Given the description of an element on the screen output the (x, y) to click on. 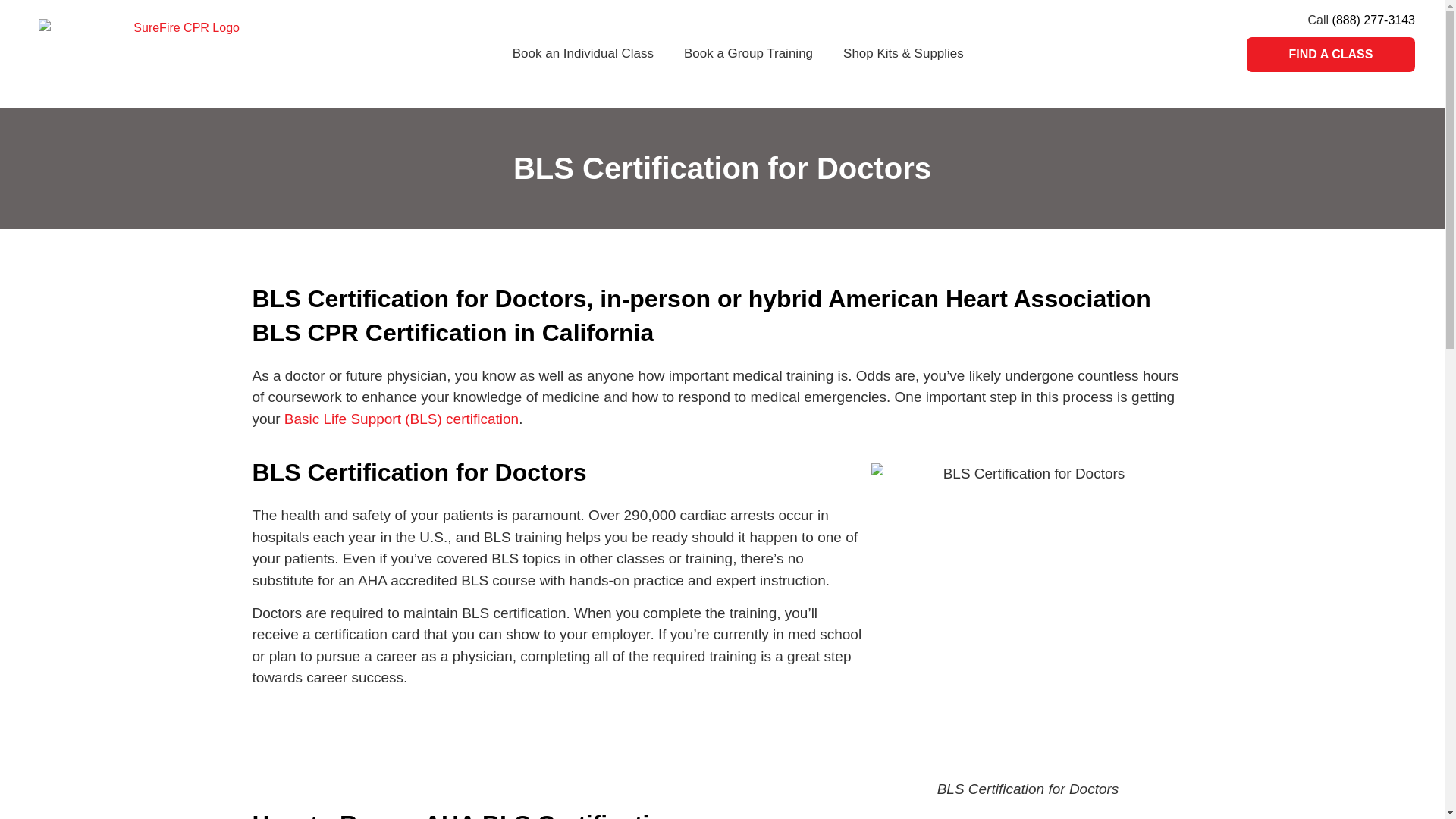
FIND A CLASS (1330, 54)
Book an Individual Class (582, 53)
Click to book a group training (748, 53)
Book a Group Training (748, 53)
SureFire CPR (180, 53)
Click to find a class (1330, 54)
Click to book an individual class (582, 53)
